Given the description of an element on the screen output the (x, y) to click on. 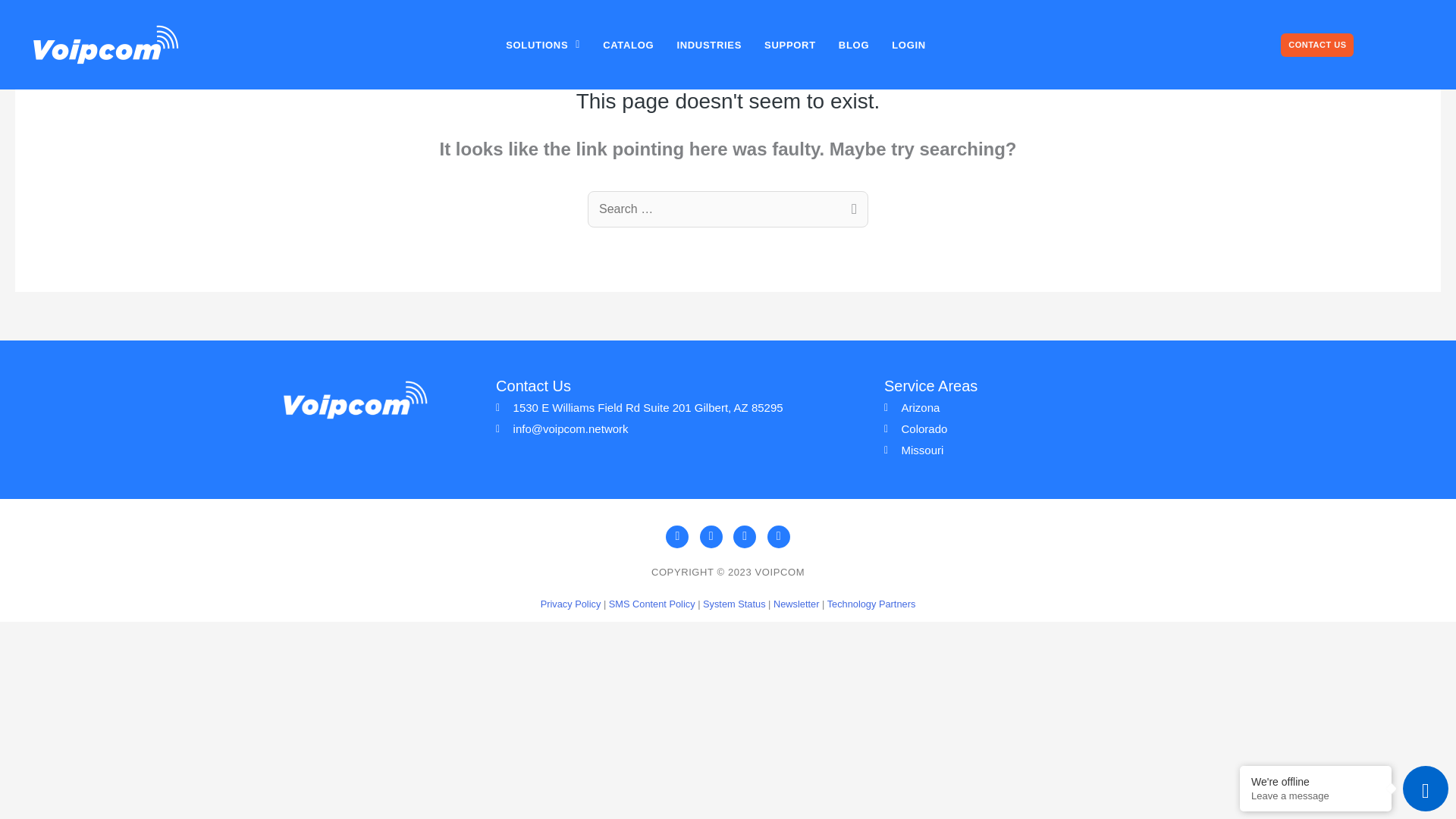
CATALOG (628, 44)
LOGIN (908, 44)
BLOG (853, 44)
CONTACT US (1317, 44)
SUPPORT (789, 44)
Search (850, 210)
INDUSTRIES (708, 44)
Search (850, 210)
SOLUTIONS (543, 44)
